Given the description of an element on the screen output the (x, y) to click on. 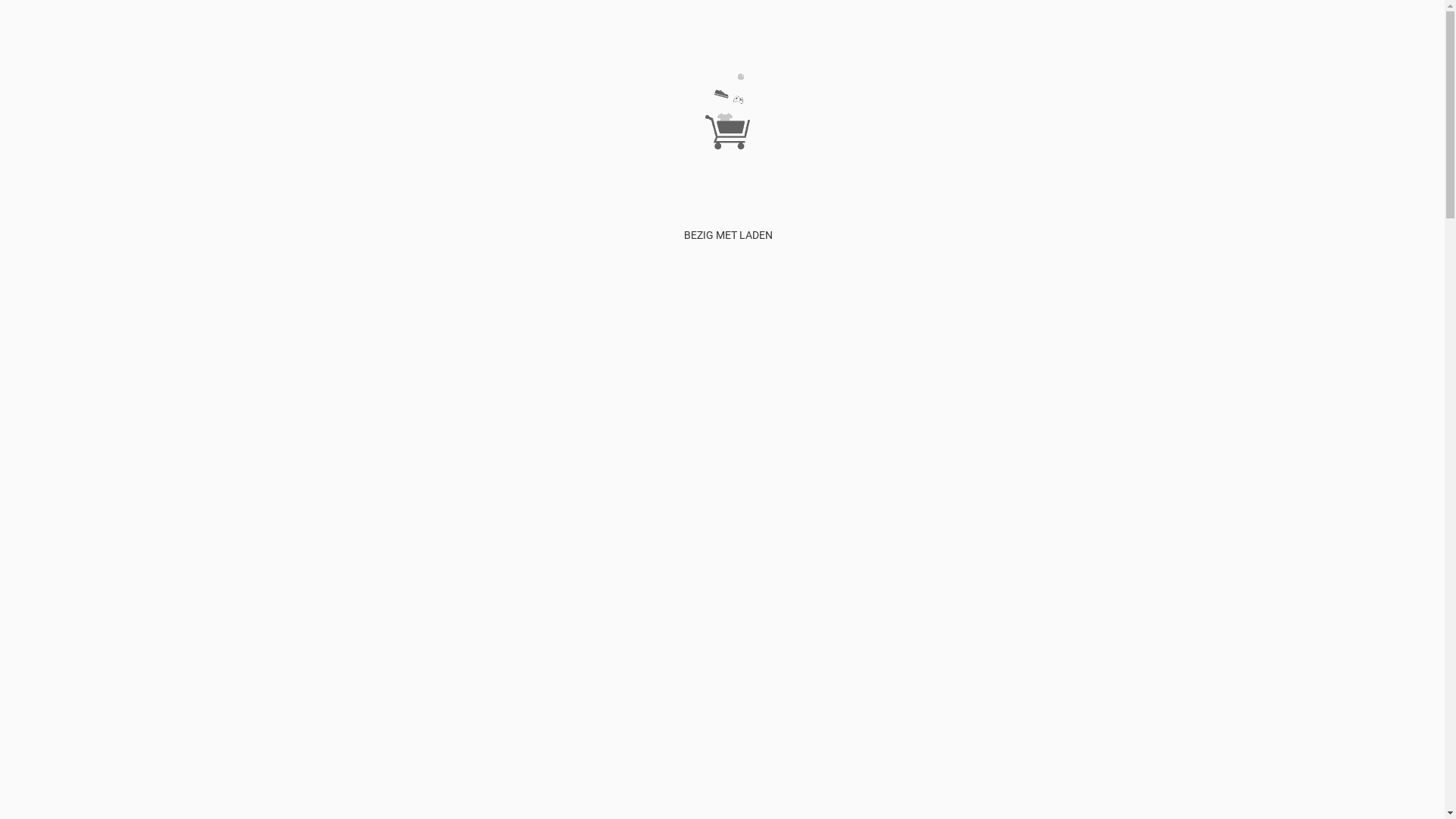
KLEDING Element type: text (1042, 75)
Checkout Element type: text (995, 75)
Verkennen Element type: text (740, 75)
SCHOENEN Element type: text (1164, 75)
Over Element type: text (778, 75)
Disclaimer Element type: text (815, 75)
Details Element type: text (15, 771)
Mijn Account Element type: text (872, 75)
Winkelmandje Element type: text (938, 75)
Home Element type: text (698, 75)
ACCESSOIRES Element type: text (1100, 75)
